Given the description of an element on the screen output the (x, y) to click on. 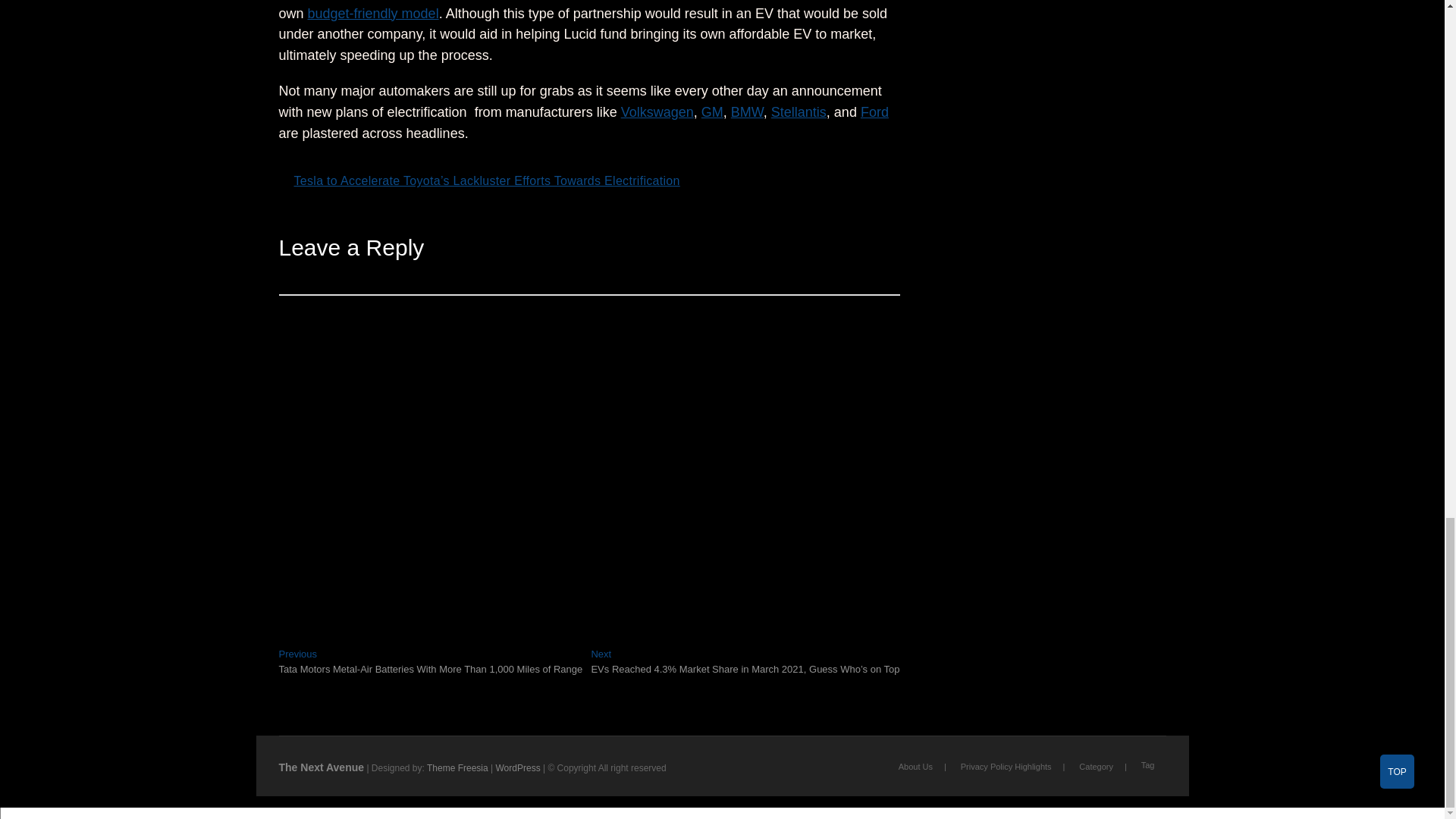
Ford (874, 111)
GM (712, 111)
Stellantis (799, 111)
budget-friendly model (373, 13)
BMW (746, 111)
Volkswagen (657, 111)
